Given the description of an element on the screen output the (x, y) to click on. 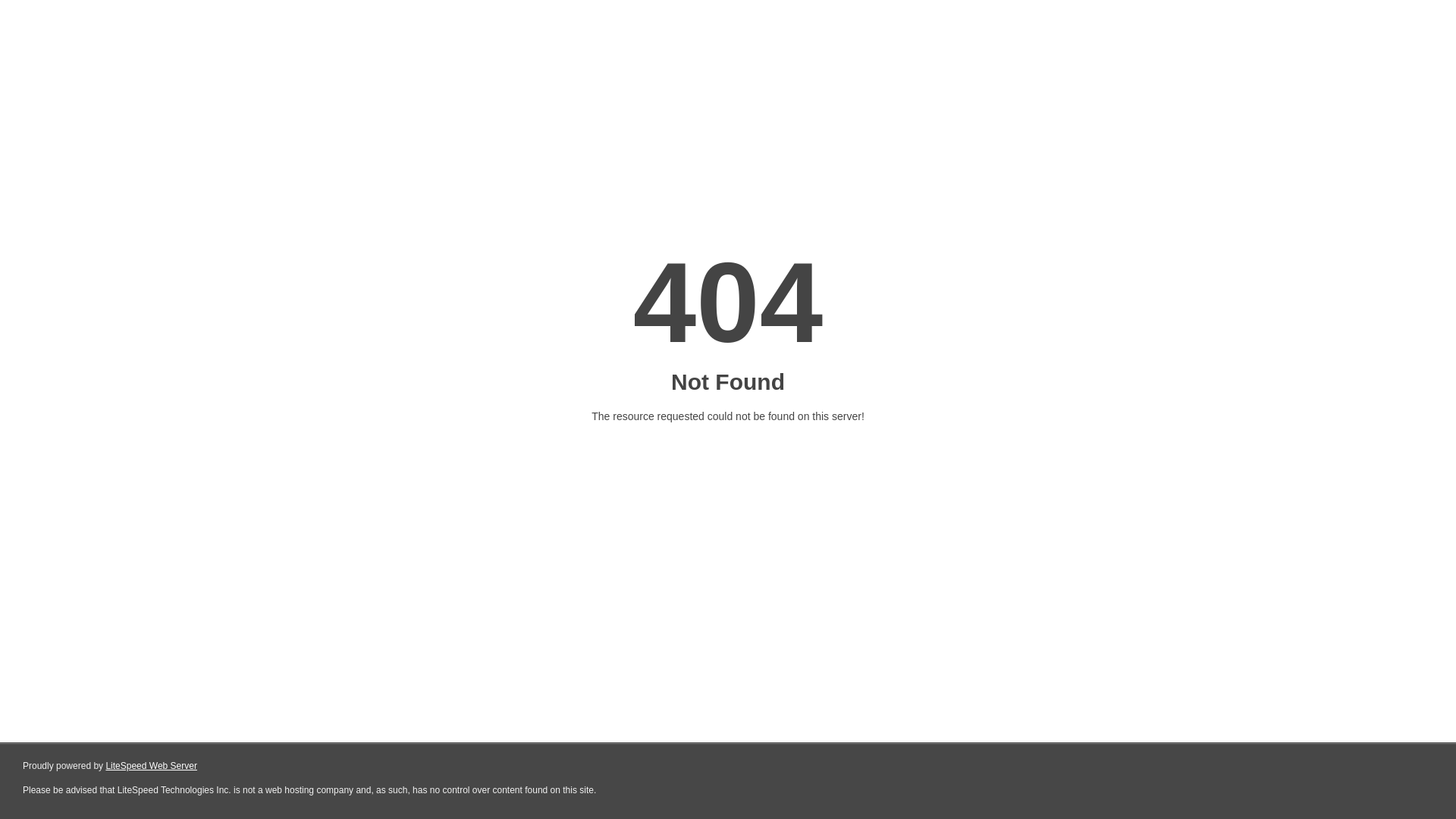
LiteSpeed Web Server Element type: text (151, 765)
